Given the description of an element on the screen output the (x, y) to click on. 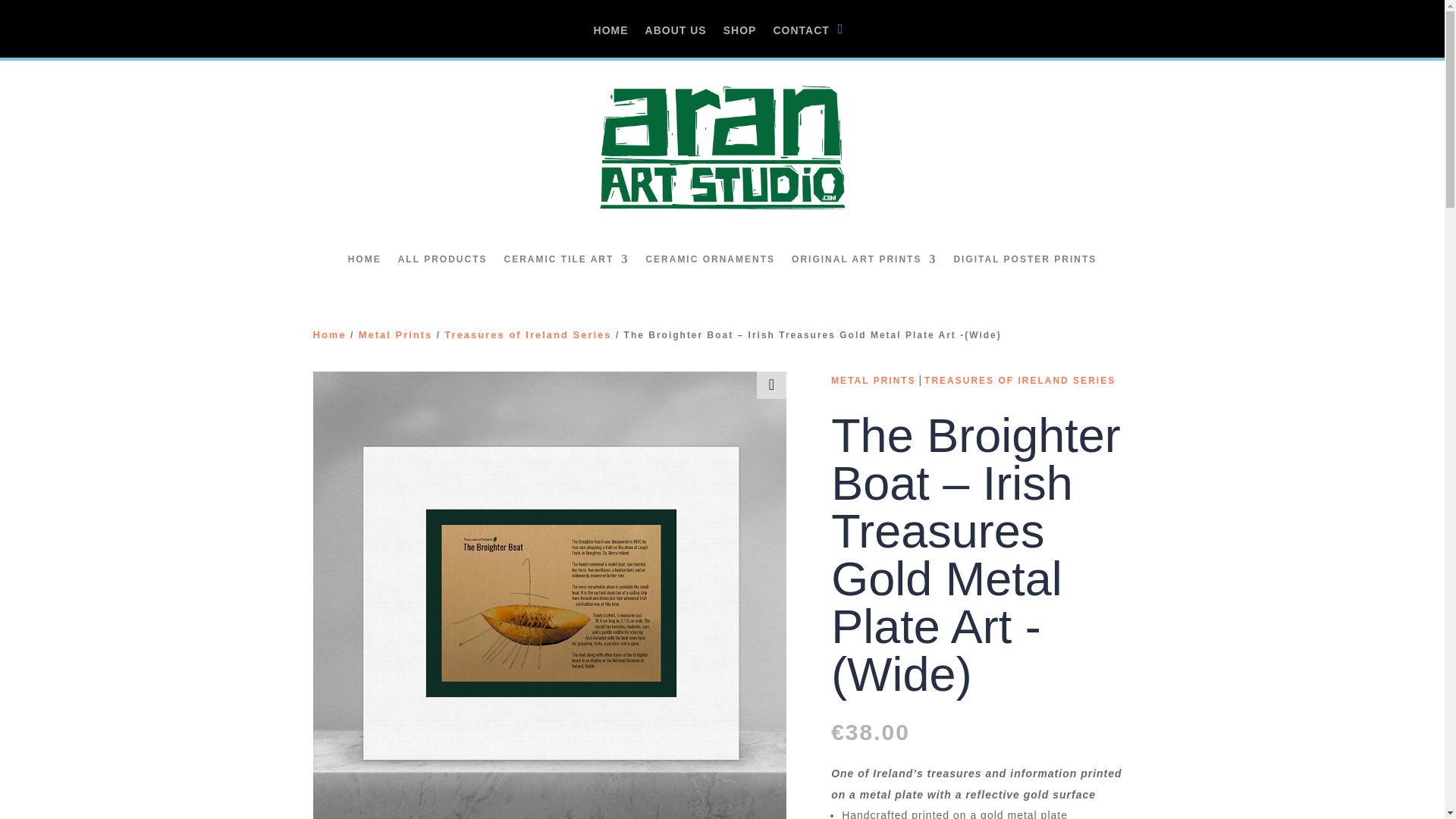
CONTACT (800, 41)
CERAMIC TILE ART (565, 259)
CERAMIC ORNAMENTS (709, 259)
DIGITAL POSTER PRINTS (1024, 259)
ORIGINAL ART PRINTS (864, 259)
ALL PRODUCTS (442, 259)
HOME (611, 41)
SHOP (740, 41)
ABOUT US (675, 41)
